Given the description of an element on the screen output the (x, y) to click on. 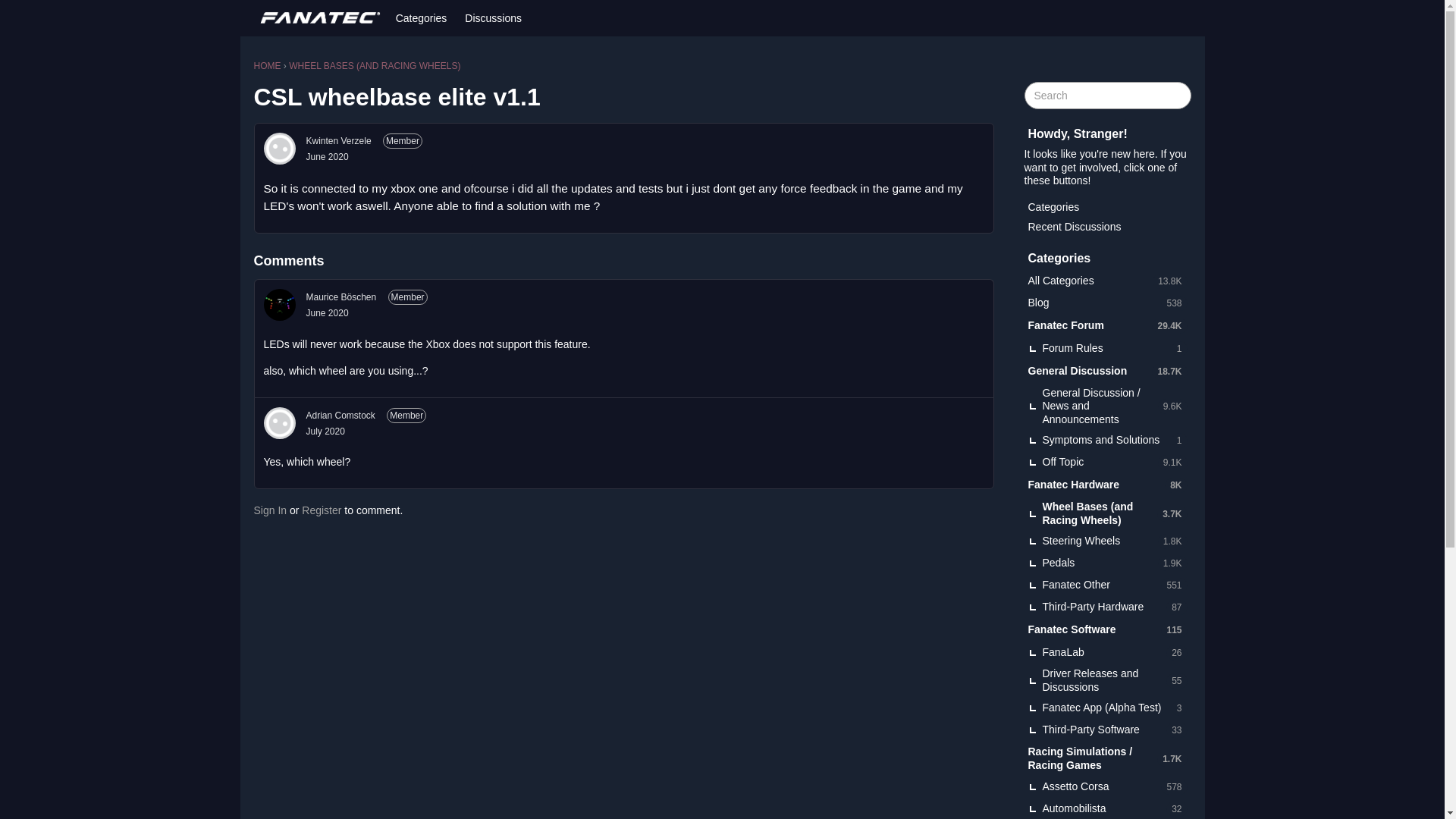
1,873 discussions (1172, 563)
Go (1177, 94)
Go (1177, 94)
538 discussions (1173, 302)
Categories (422, 17)
9,066 discussions (1172, 462)
Kwinten Verzele (279, 148)
June 30, 2020 6:11PM (327, 312)
July 4, 2020 5:09AM (325, 430)
Discussions (493, 17)
